Given the description of an element on the screen output the (x, y) to click on. 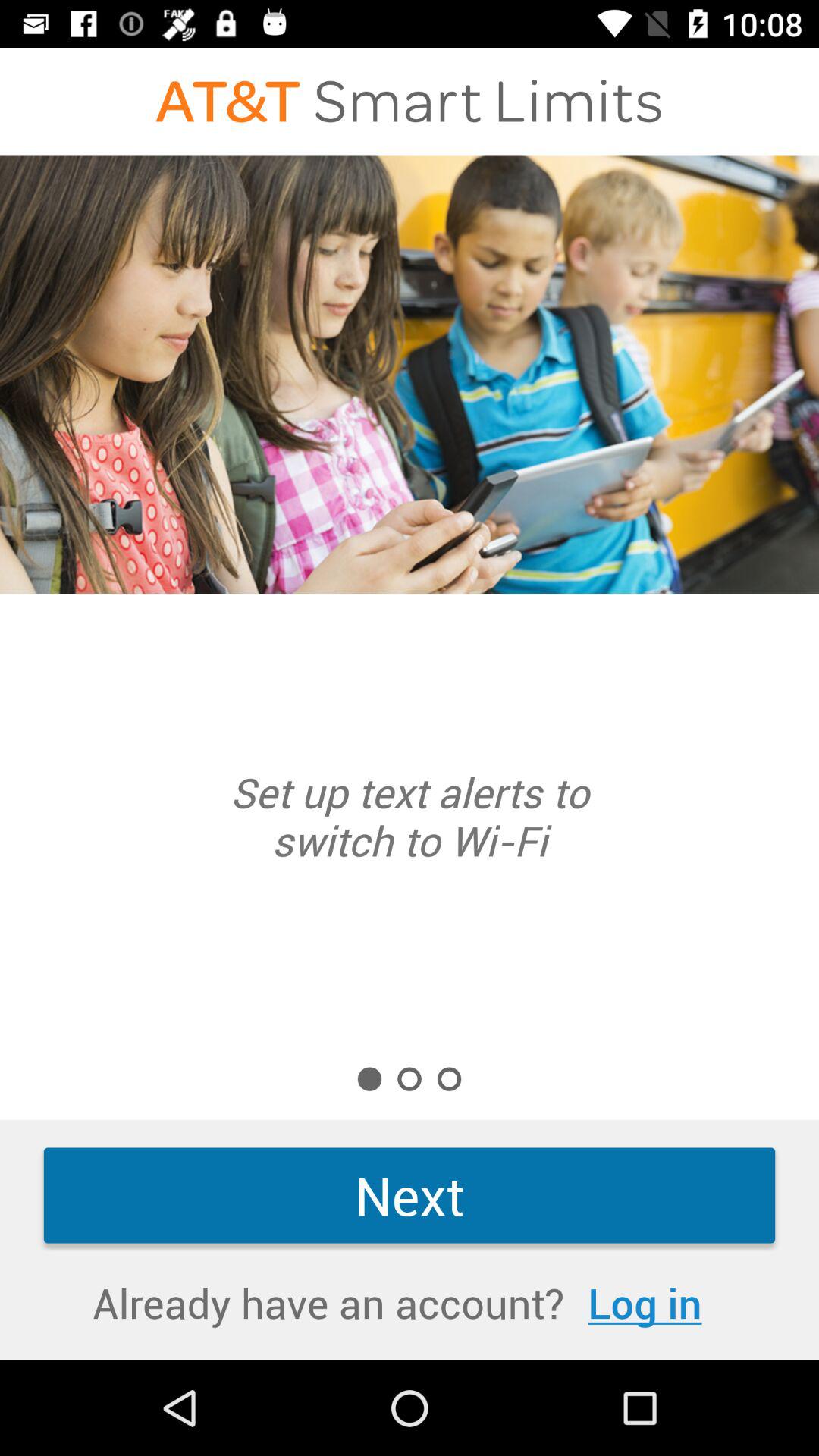
tap icon next to already have an item (644, 1302)
